Given the description of an element on the screen output the (x, y) to click on. 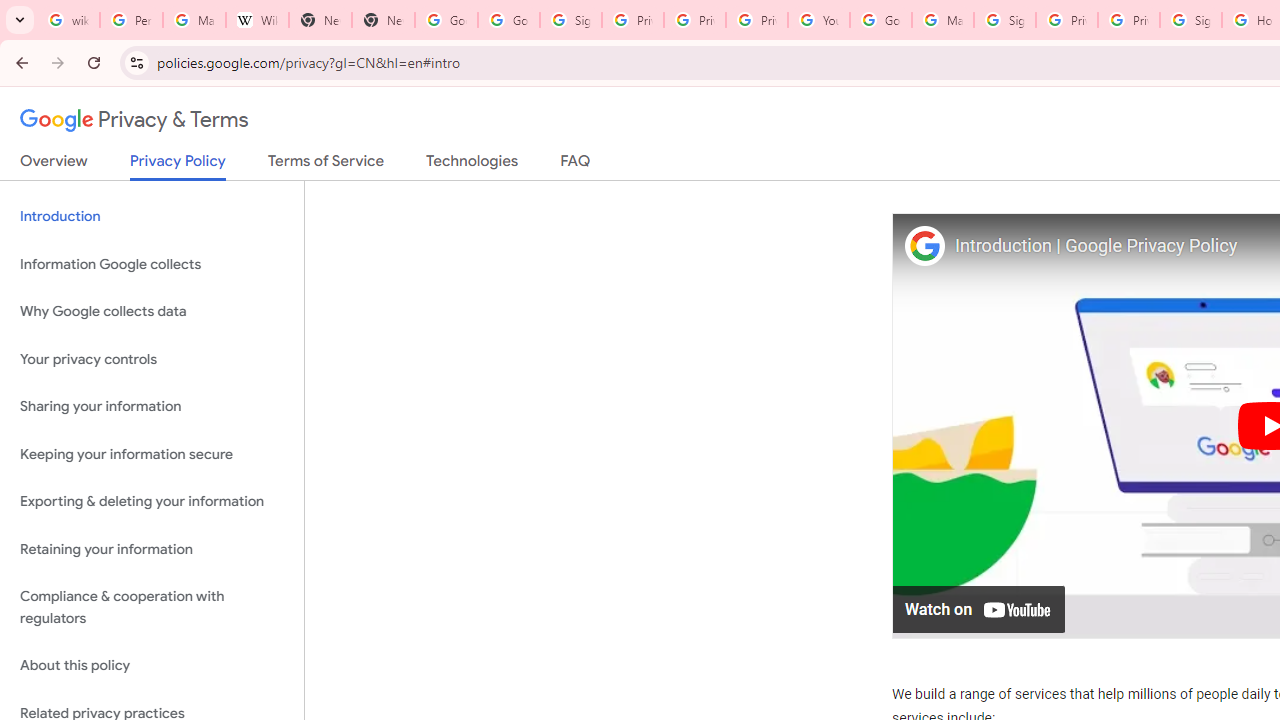
YouTube (818, 20)
Manage your Location History - Google Search Help (194, 20)
Watch on YouTube (979, 608)
Privacy & Terms (134, 120)
Privacy Policy (177, 166)
Why Google collects data (152, 312)
FAQ (575, 165)
Retaining your information (152, 548)
Compliance & cooperation with regulators (152, 607)
